Given the description of an element on the screen output the (x, y) to click on. 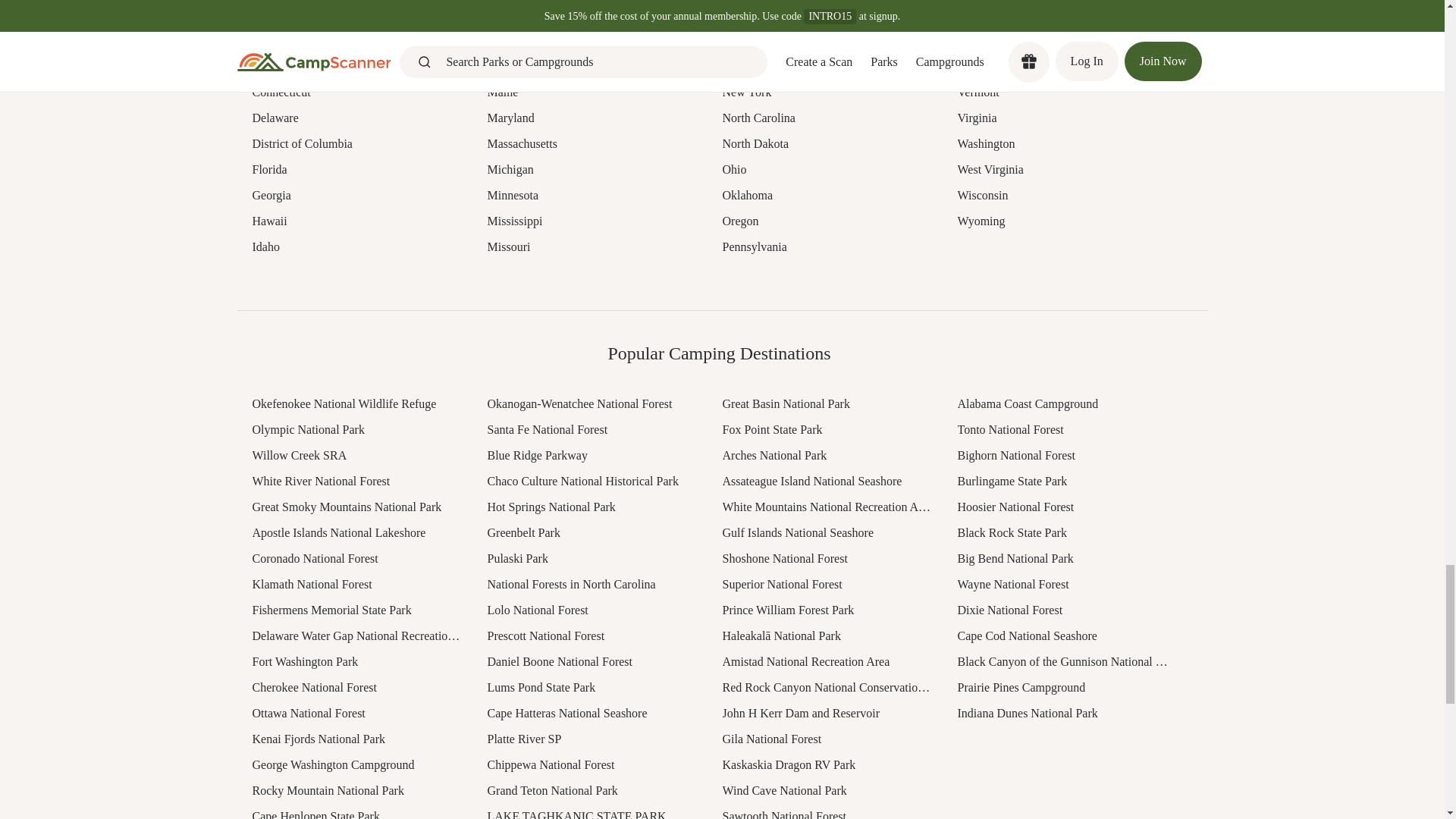
Texas (1061, 40)
Kentucky (591, 40)
Kansas (591, 14)
New Jersey (827, 40)
Tennessee (1061, 14)
California (357, 40)
Arkansas (357, 14)
Colorado (357, 66)
New Hampshire (827, 14)
